Given the description of an element on the screen output the (x, y) to click on. 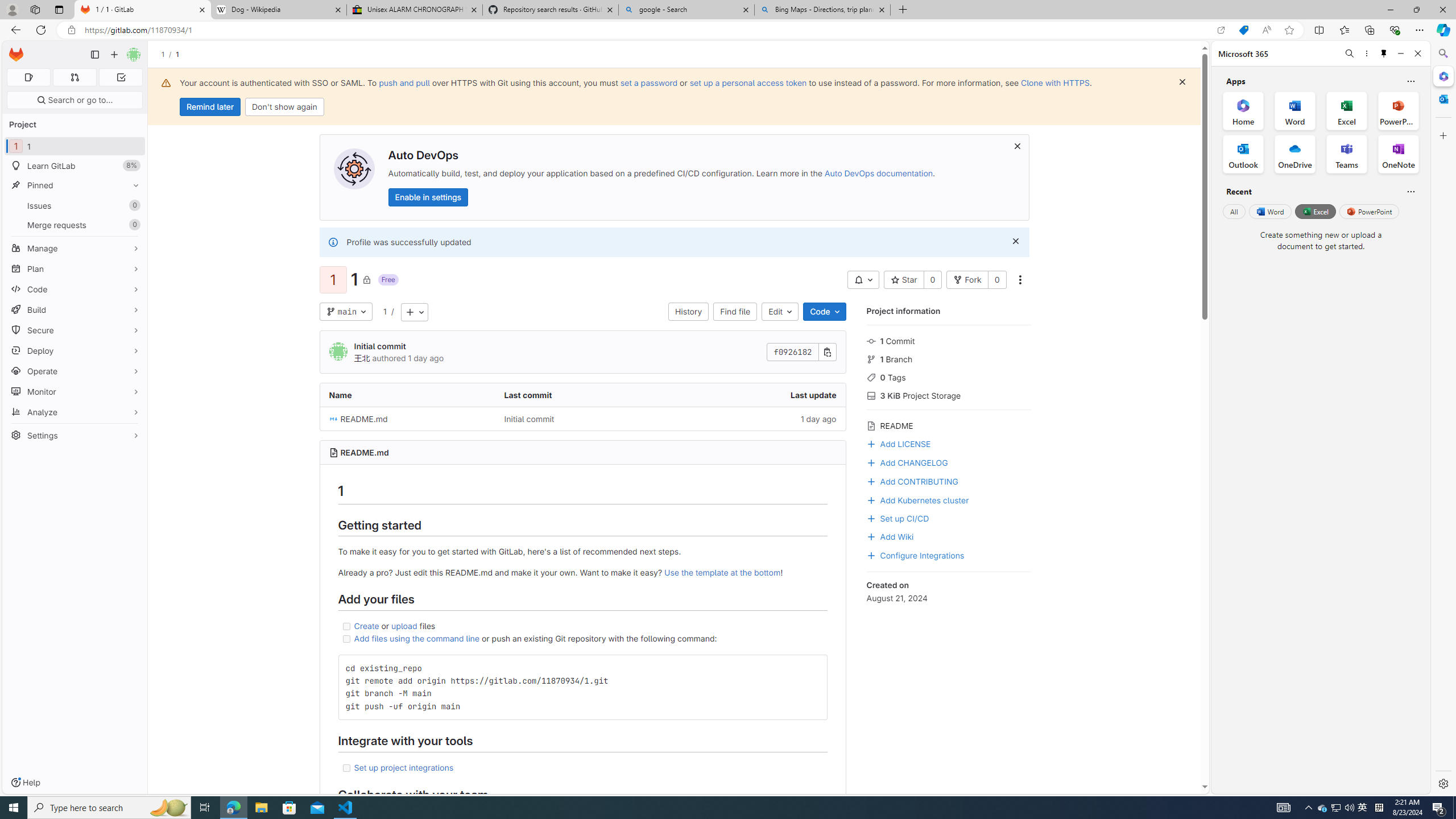
Use the template at the bottom (721, 572)
Restore (1416, 9)
Side bar (1443, 418)
Edit (780, 311)
Name (407, 395)
1 Commit (948, 340)
README.md (364, 452)
Favorites (1344, 29)
0 Tags (948, 376)
Initial commit (528, 418)
Don't show again (284, 106)
Word (1269, 210)
Excel Office App (1346, 110)
